Given the description of an element on the screen output the (x, y) to click on. 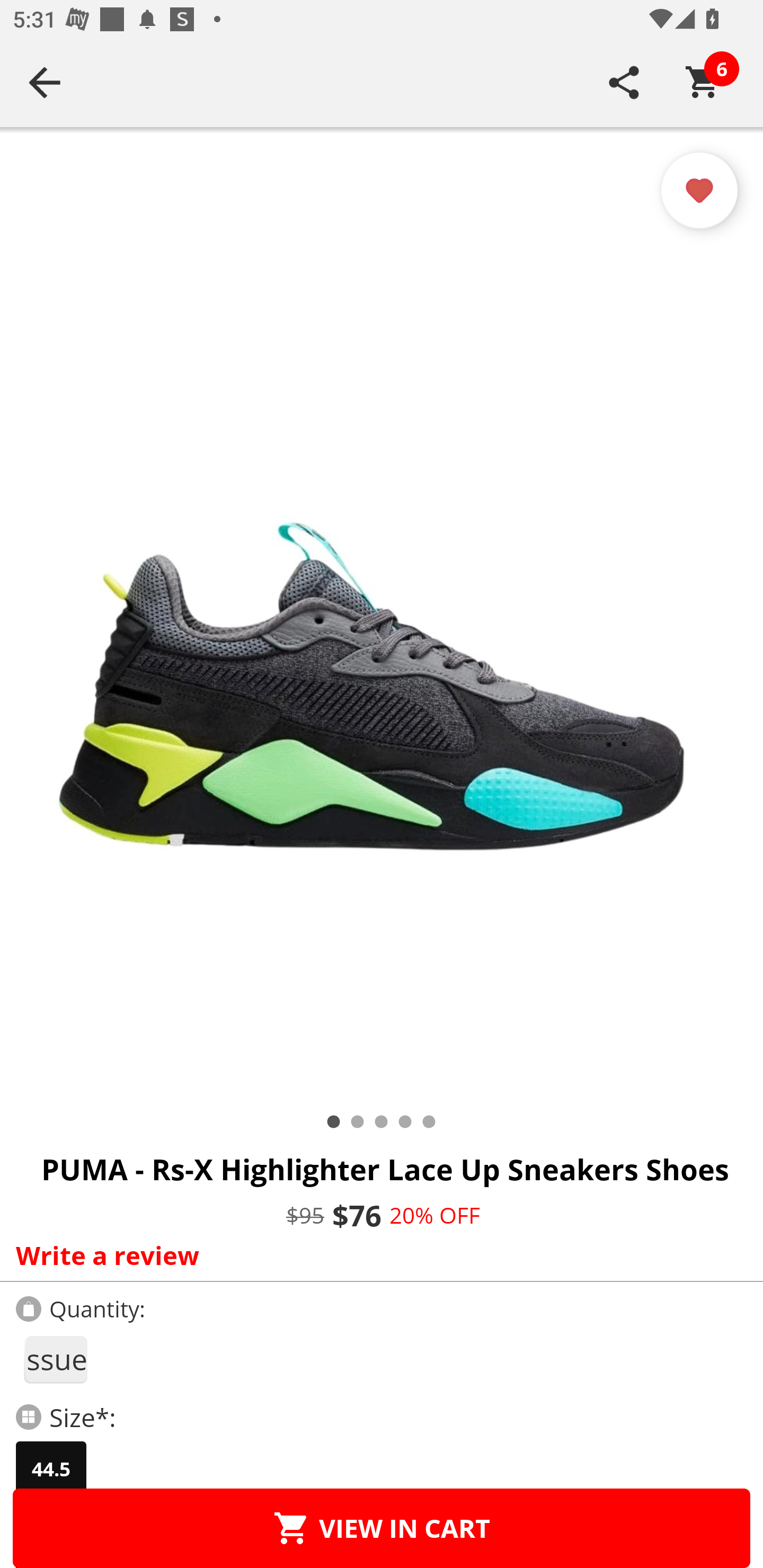
Navigate up (44, 82)
SHARE (623, 82)
Cart (703, 81)
Write a review (377, 1255)
1tissue (55, 1358)
44.5 (51, 1468)
VIEW IN CART (381, 1528)
